Given the description of an element on the screen output the (x, y) to click on. 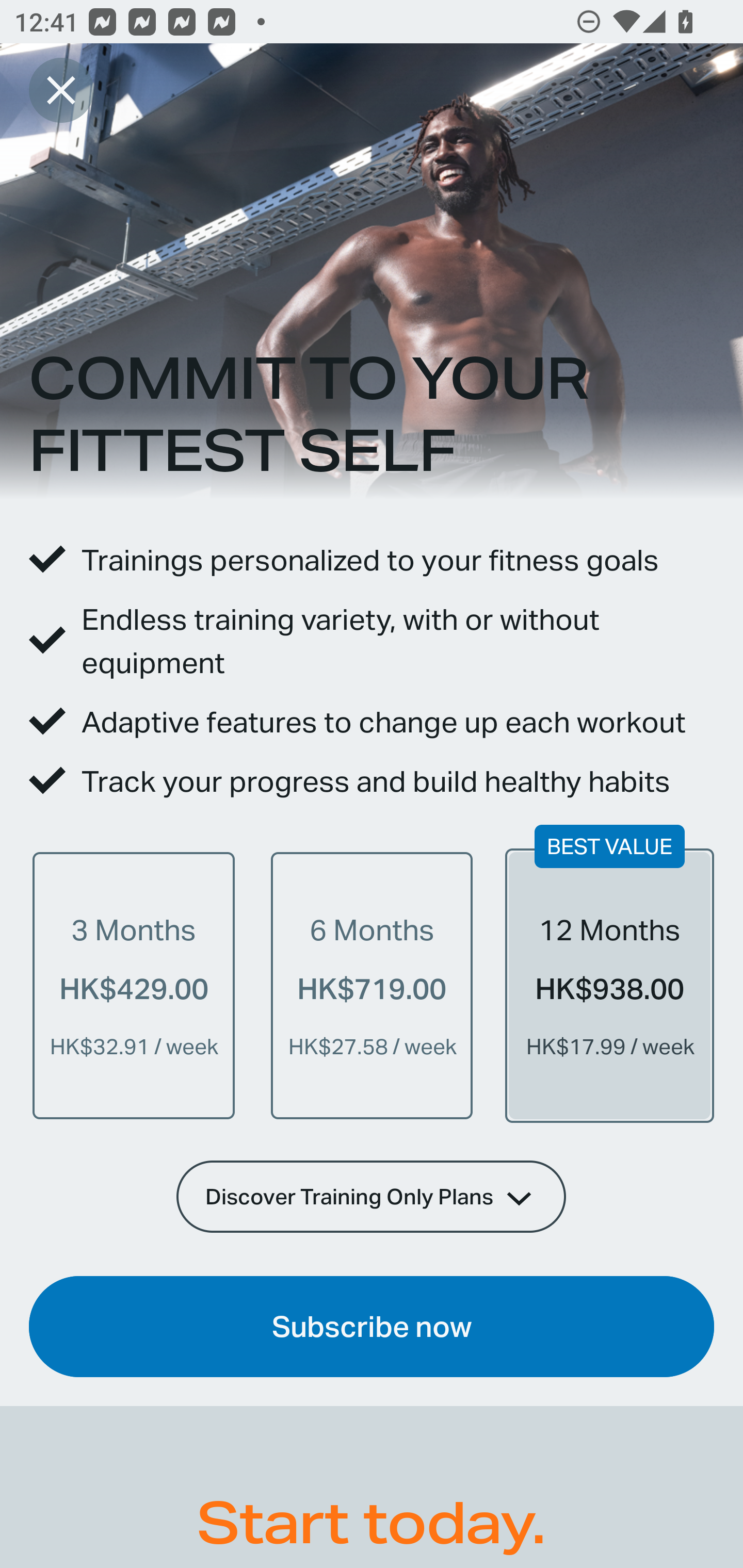
Close (60, 90)
3 Months HK$429.00 HK$32.91 / week (133, 985)
6 Months HK$719.00 HK$27.58 / week (371, 985)
12 Months HK$938.00 HK$17.99 / week (609, 985)
Discover Training Only Plans (371, 1196)
Subscribe now (371, 1326)
